Given the description of an element on the screen output the (x, y) to click on. 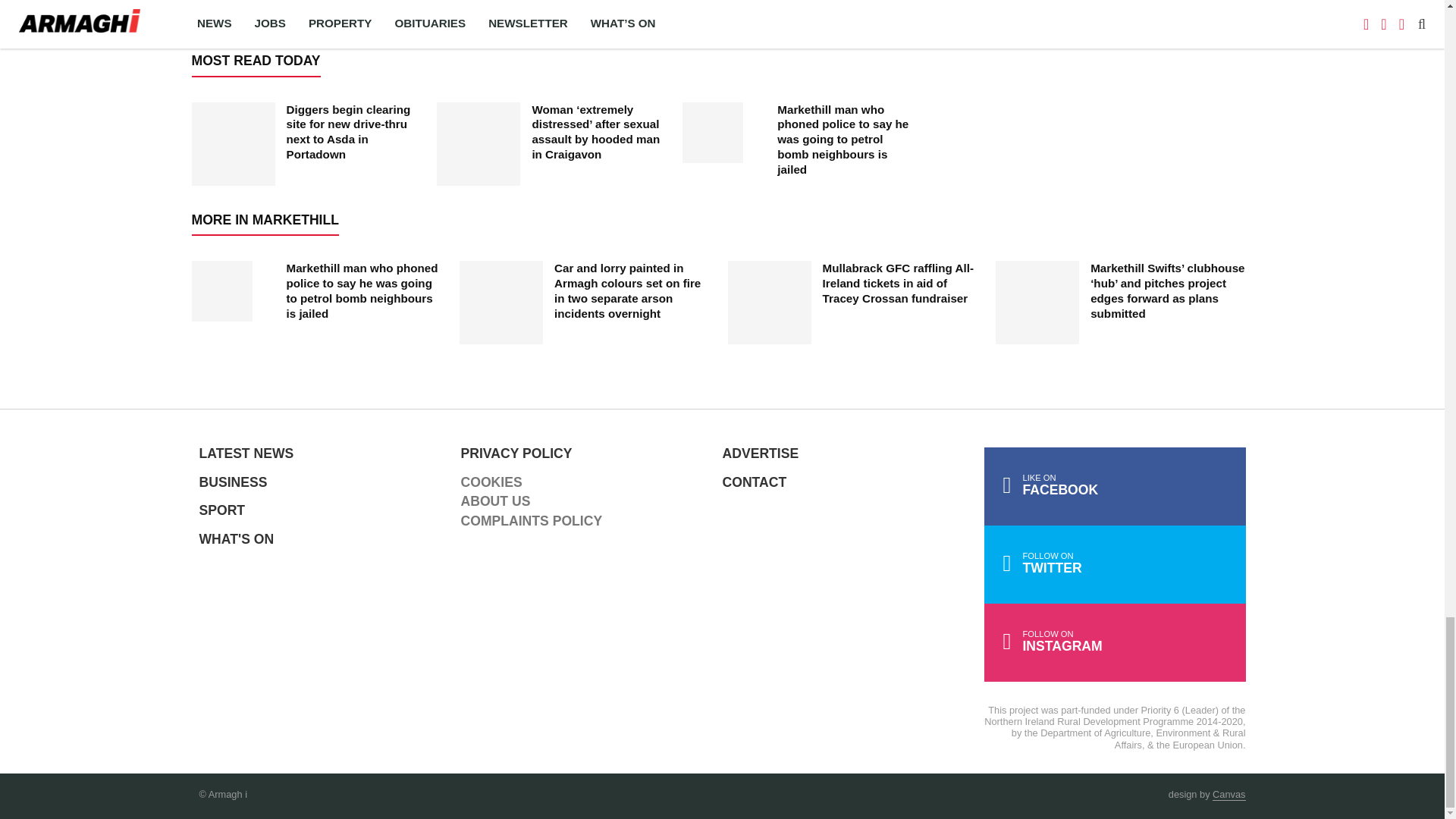
Facebook (1115, 486)
Twitter (1115, 564)
Instagram (1115, 642)
